Given the description of an element on the screen output the (x, y) to click on. 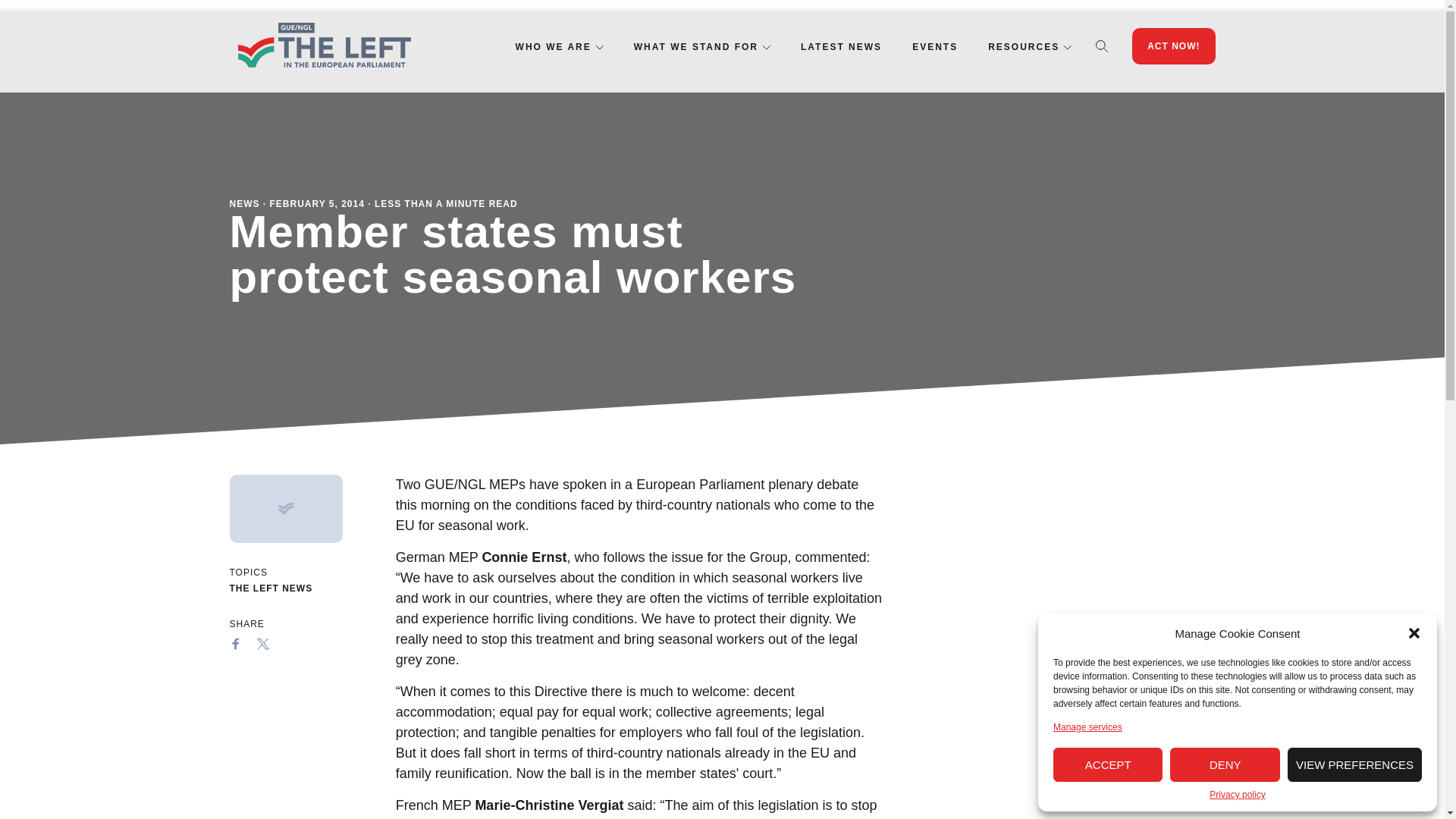
The Left (323, 45)
DENY (1224, 764)
Manage services (1087, 726)
WHAT WE STAND FOR (695, 46)
ACCEPT (1106, 764)
VIEW PREFERENCES (1354, 764)
Search (1101, 45)
LATEST NEWS (841, 46)
Accueil (323, 45)
WHO WE ARE (553, 46)
Privacy policy (1237, 794)
EVENTS (935, 46)
RESOURCES (1023, 46)
Search (1101, 45)
